Given the description of an element on the screen output the (x, y) to click on. 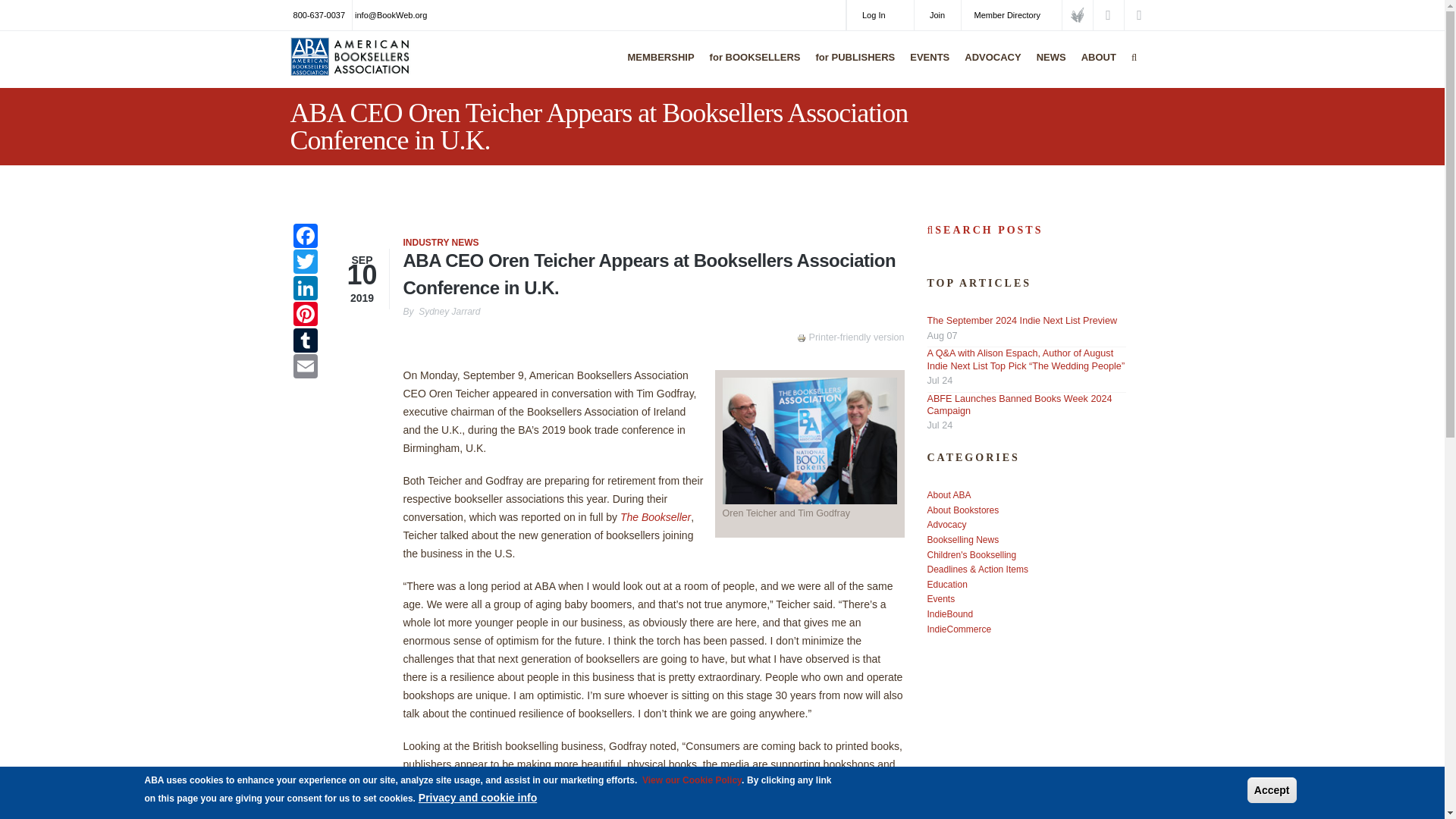
Member Directory (1010, 15)
Log In (880, 15)
for BOOKSELLERS (751, 66)
ADVOCACY (989, 66)
EVENTS (925, 66)
Accept (1272, 790)
Privacy and cookie info (478, 797)
Oren Teicher and Tim Godfray (809, 440)
ABOUT (1094, 66)
